Given the description of an element on the screen output the (x, y) to click on. 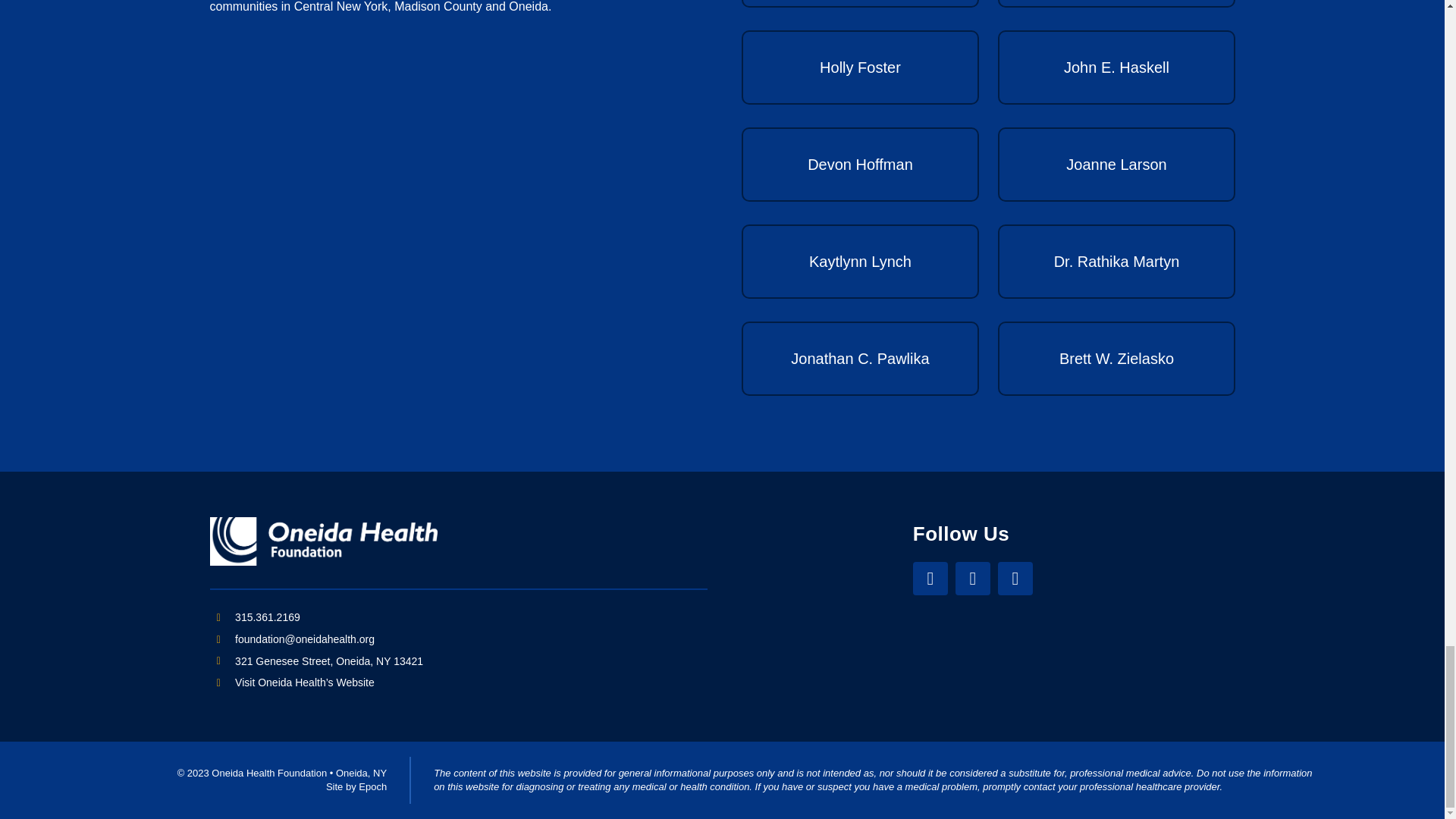
Instagram (972, 578)
Facebook (929, 578)
LinkedIn (1014, 578)
ONE Logo-04 (322, 541)
